Given the description of an element on the screen output the (x, y) to click on. 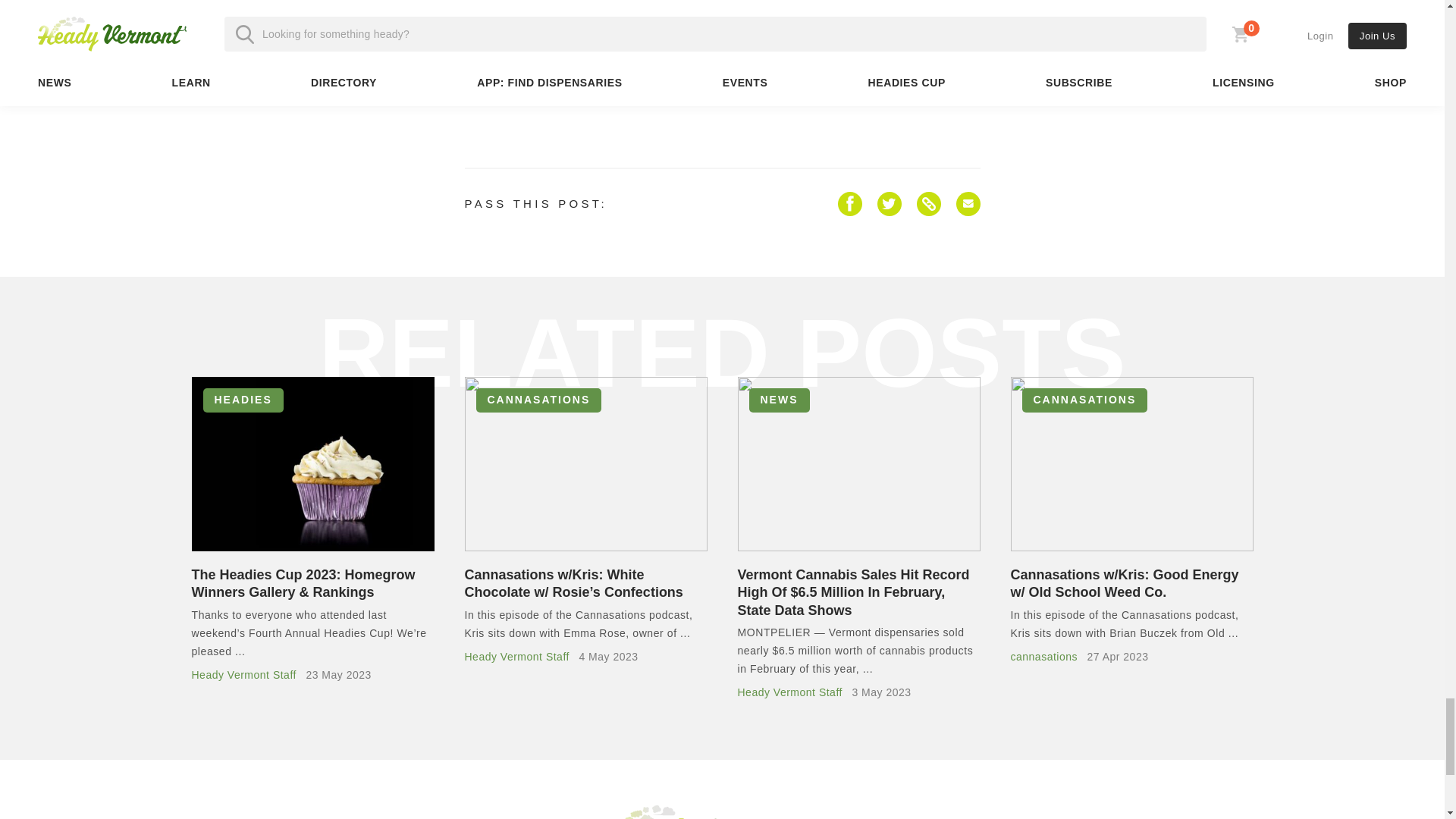
Share this post on Twitter (888, 203)
Share this post on Facebook (849, 203)
Copy this post to your clipboard (927, 203)
Share this post via Email (967, 203)
